Given the description of an element on the screen output the (x, y) to click on. 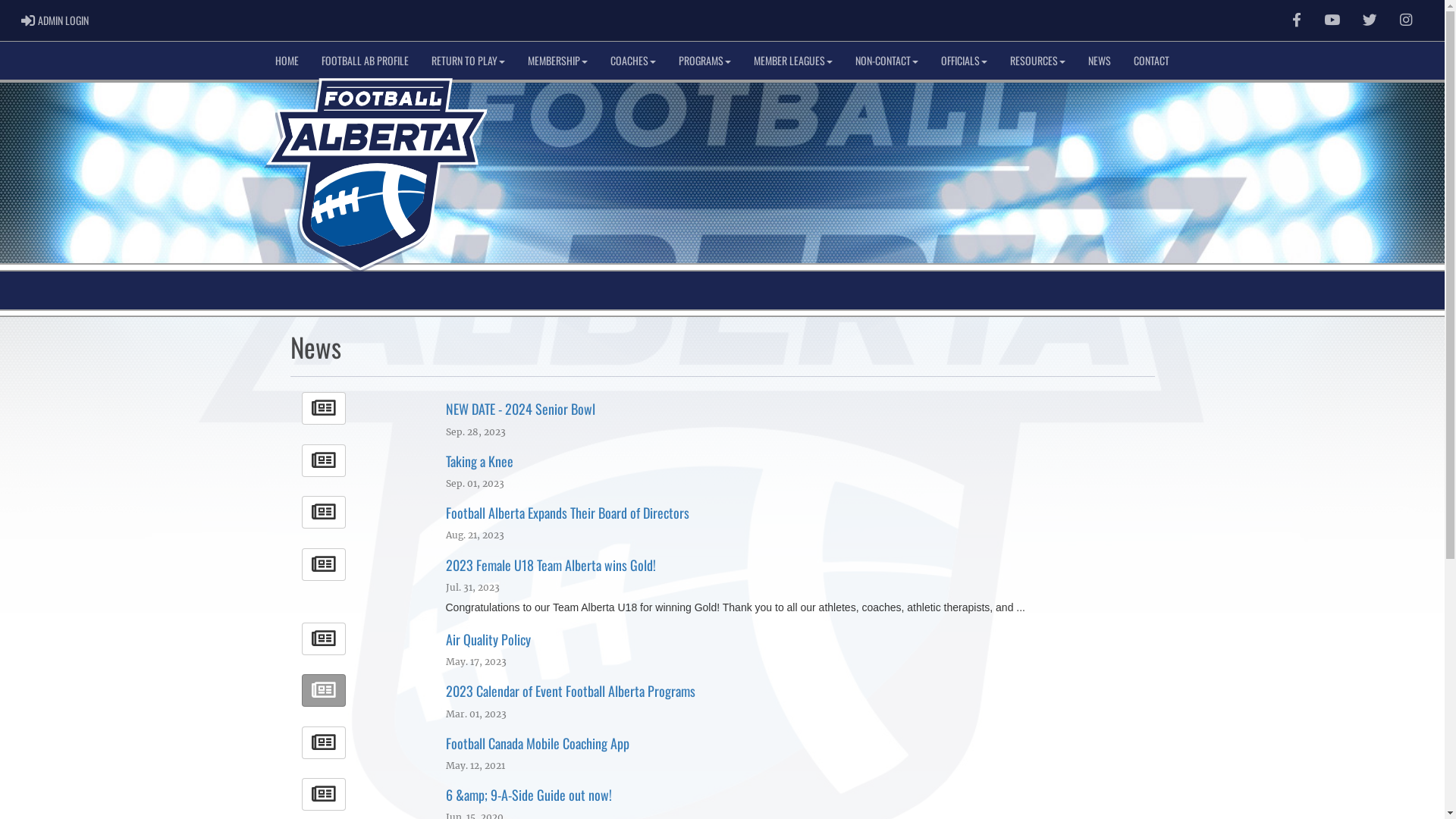
FOOTBALL AB PROFILE Element type: text (365, 60)
MEMBER LEAGUES Element type: text (793, 60)
like us Element type: hover (1296, 19)
Instagram Element type: text (1405, 20)
Login Page Element type: hover (28, 20)
COACHES Element type: text (633, 60)
NEW DATE - 2024 Senior Bowl Element type: text (520, 408)
NEWS Element type: text (1099, 60)
OFFICIALS Element type: text (963, 60)
Facebook Element type: text (1296, 20)
RETURN TO PLAY Element type: text (468, 60)
RESOURCES Element type: text (1037, 60)
watch Element type: hover (1331, 19)
2023 Calendar of Event Football Alberta Programs Element type: text (570, 690)
Twitter Element type: text (1369, 20)
6 &amp; 9-A-Side Guide out now! Element type: text (528, 794)
Taking a Knee Element type: text (479, 460)
MEMBERSHIP Element type: text (557, 60)
instagram Element type: hover (1405, 19)
LOGIN PAGE
 ADMIN LOGIN
ADMIN LOGIN Element type: text (54, 20)
HOME Element type: text (286, 60)
Football Canada Mobile Coaching App Element type: text (537, 743)
Air Quality Policy Element type: text (487, 639)
Youtube Element type: text (1331, 20)
Football Alberta Expands Their Board of Directors Element type: text (567, 512)
PROGRAMS Element type: text (704, 60)
NON-CONTACT Element type: text (886, 60)
2023 Female U18 Team Alberta wins Gold! Element type: text (550, 564)
CONTACT Element type: text (1151, 60)
follow us Element type: hover (1369, 19)
